Given the description of an element on the screen output the (x, y) to click on. 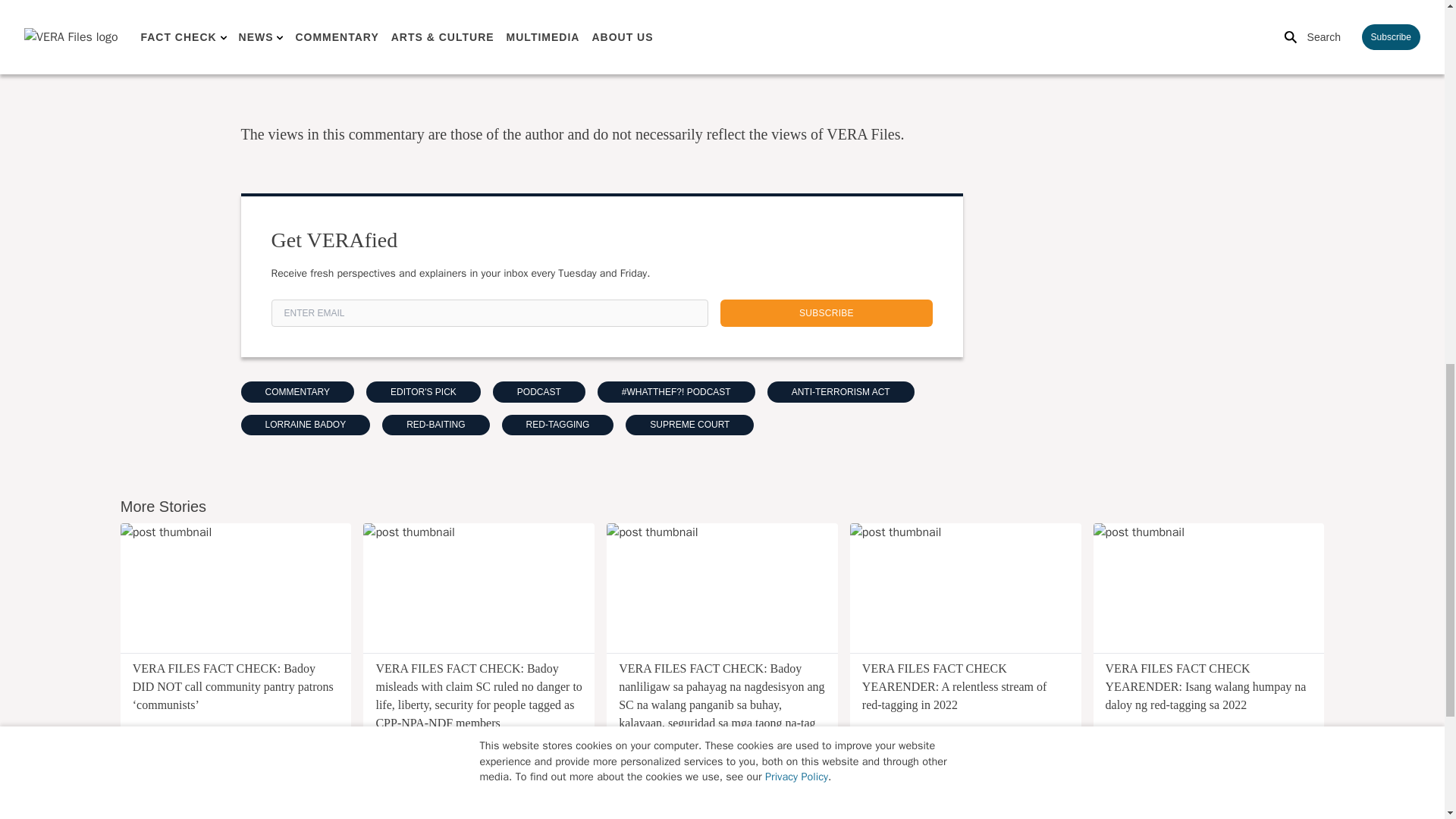
SUBSCRIBE (826, 312)
